Given the description of an element on the screen output the (x, y) to click on. 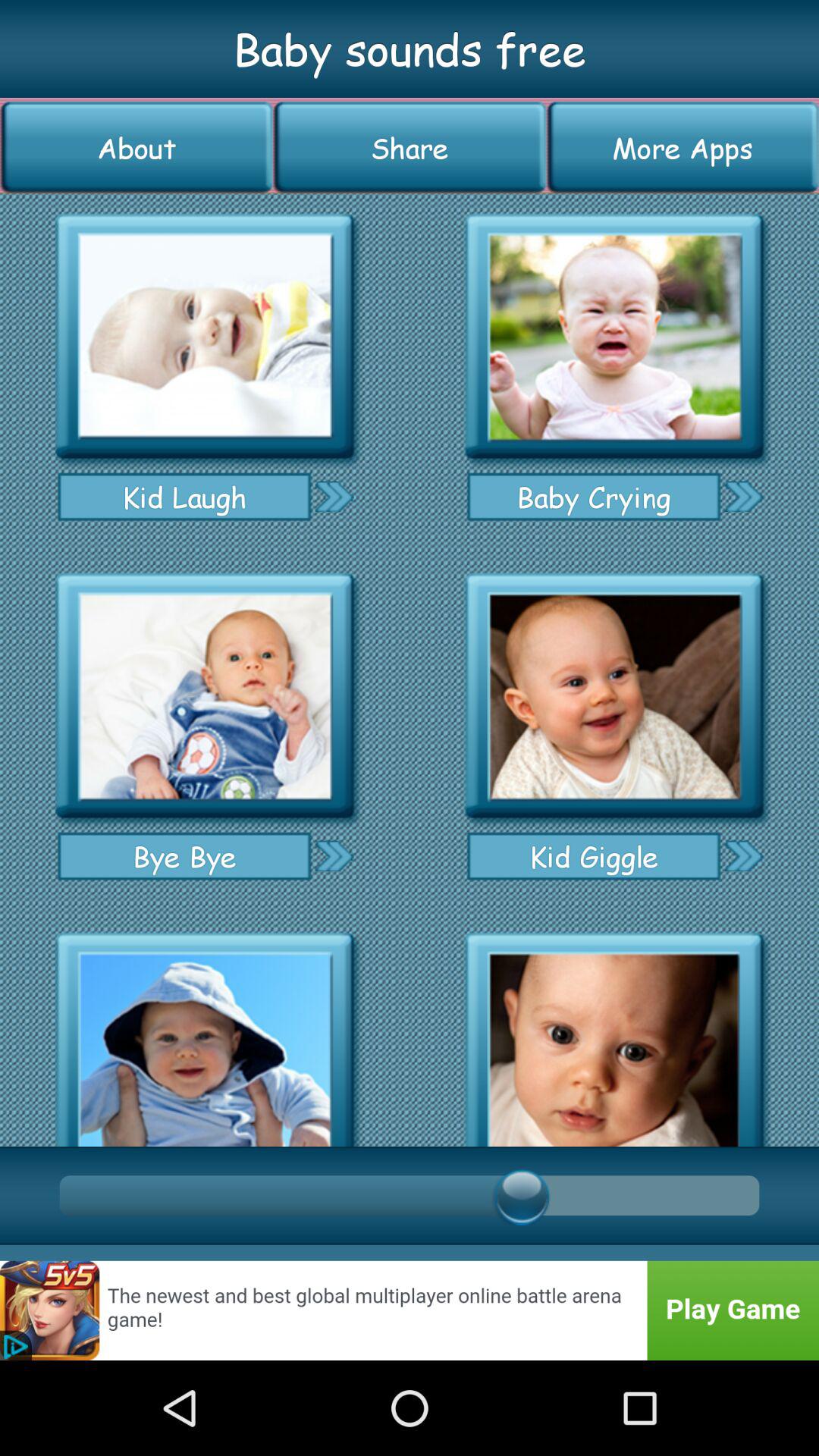
see baby crying sound (743, 496)
